Given the description of an element on the screen output the (x, y) to click on. 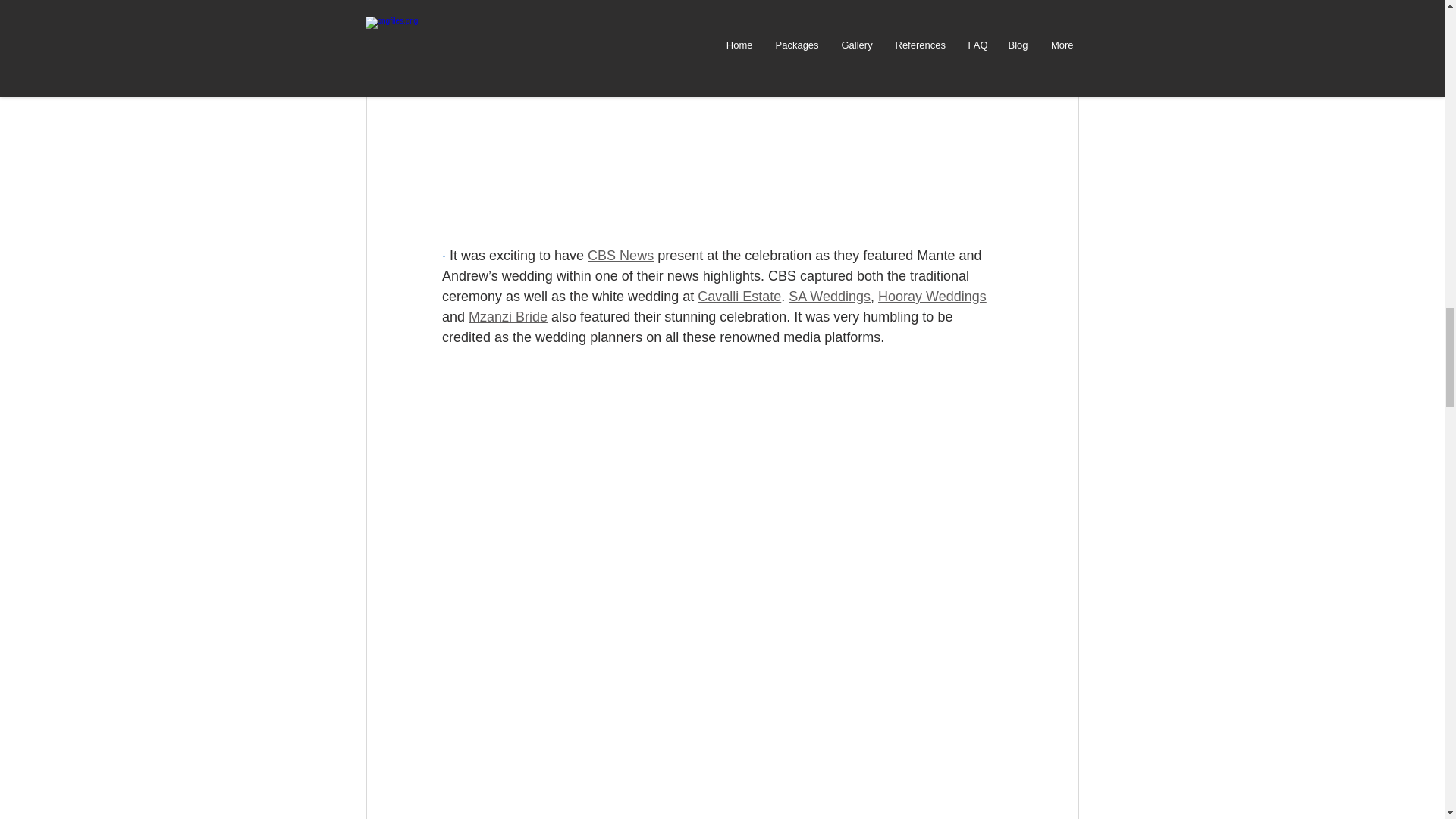
Mzanzi Bride (507, 316)
SA Weddings (829, 296)
Cavalli Estate (738, 296)
CBS News (620, 255)
Hooray Weddings (932, 296)
